Given the description of an element on the screen output the (x, y) to click on. 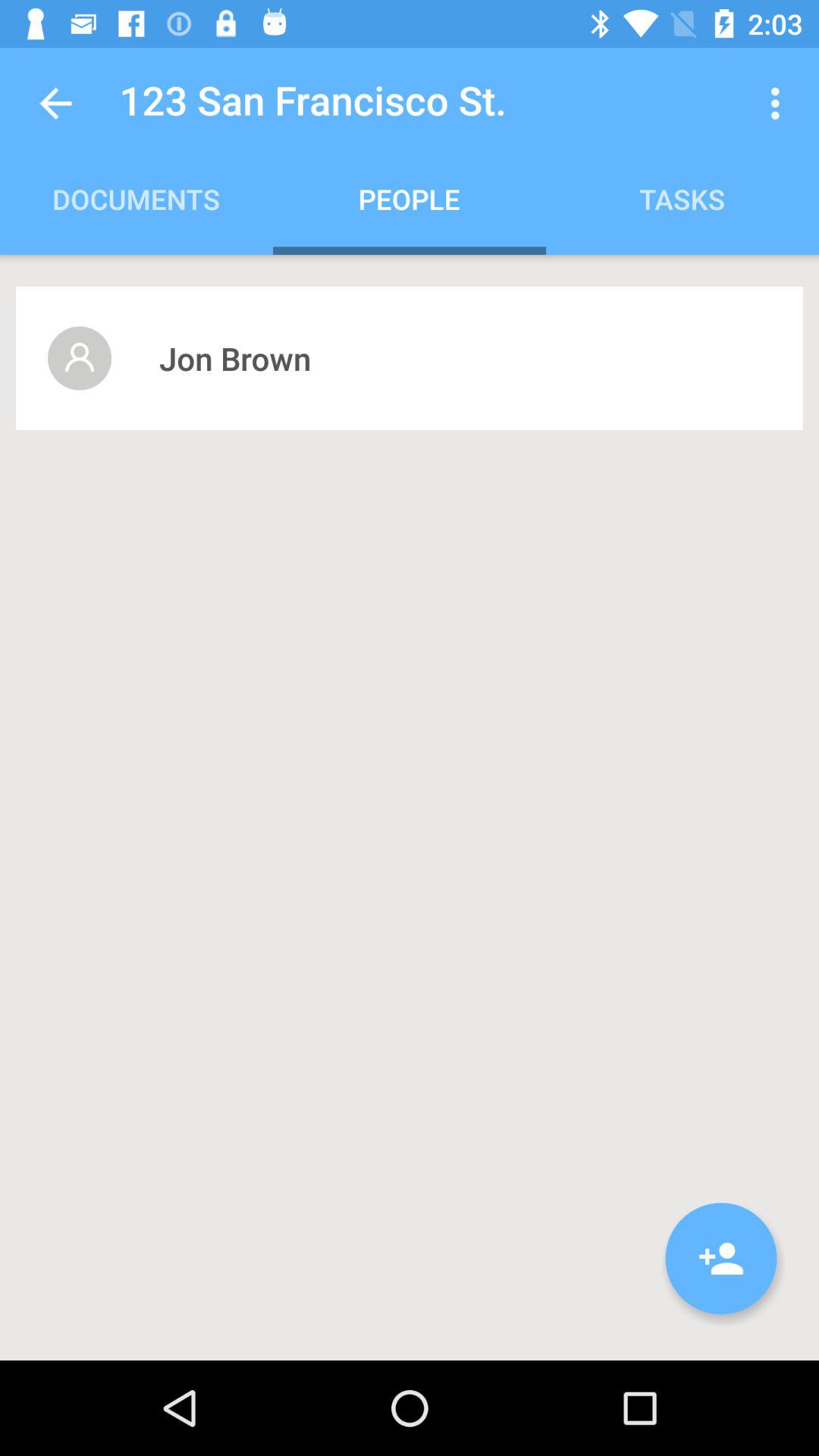
tap the icon to the right of the 123 san francisco icon (779, 103)
